Given the description of an element on the screen output the (x, y) to click on. 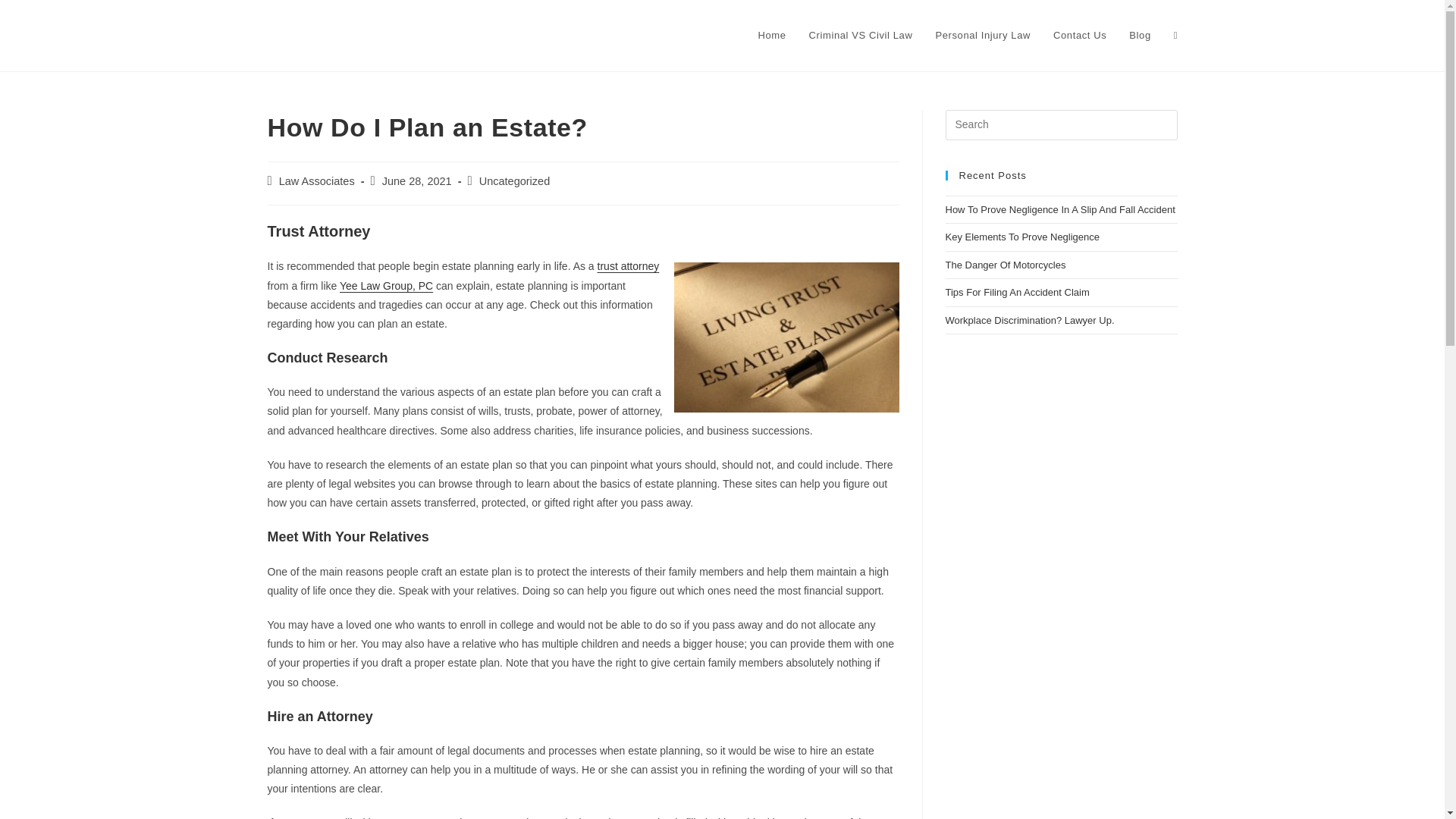
The Danger Of Motorcycles (1004, 265)
Personal Injury Law (982, 35)
Law Associates (317, 181)
Home (770, 35)
trust attorney (627, 265)
Key Elements To Prove Negligence (1021, 236)
Uncategorized (514, 181)
Contact Us (1080, 35)
Tips For Filing An Accident Claim (1016, 292)
Workplace Discrimination? Lawyer Up. (1028, 319)
